Given the description of an element on the screen output the (x, y) to click on. 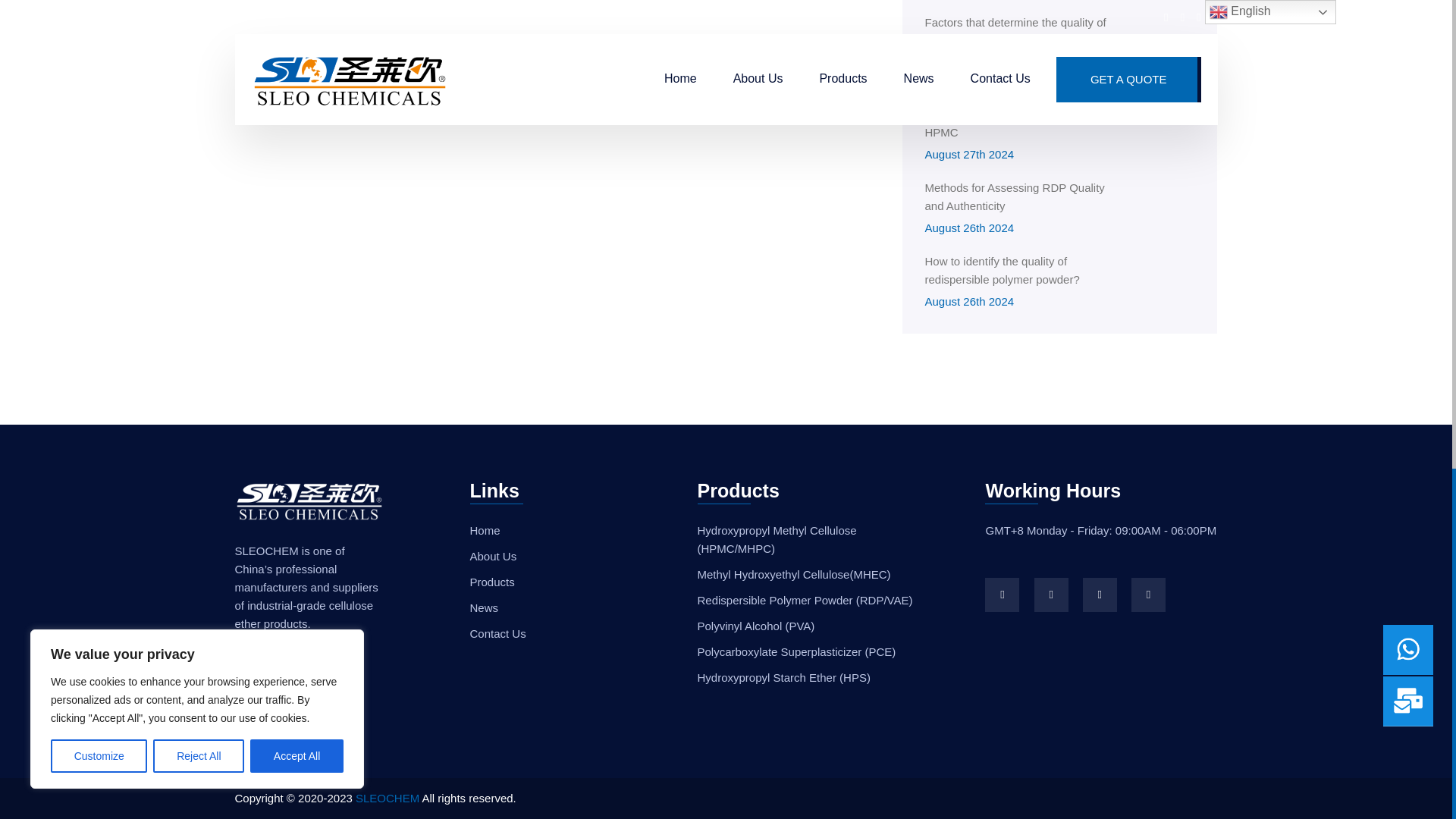
Hydroxypropyl Methyl Cellulose (363, 53)
Facebook (1002, 594)
whatsapp (1148, 594)
Twitter (1099, 594)
Linkedin (1050, 594)
